Given the description of an element on the screen output the (x, y) to click on. 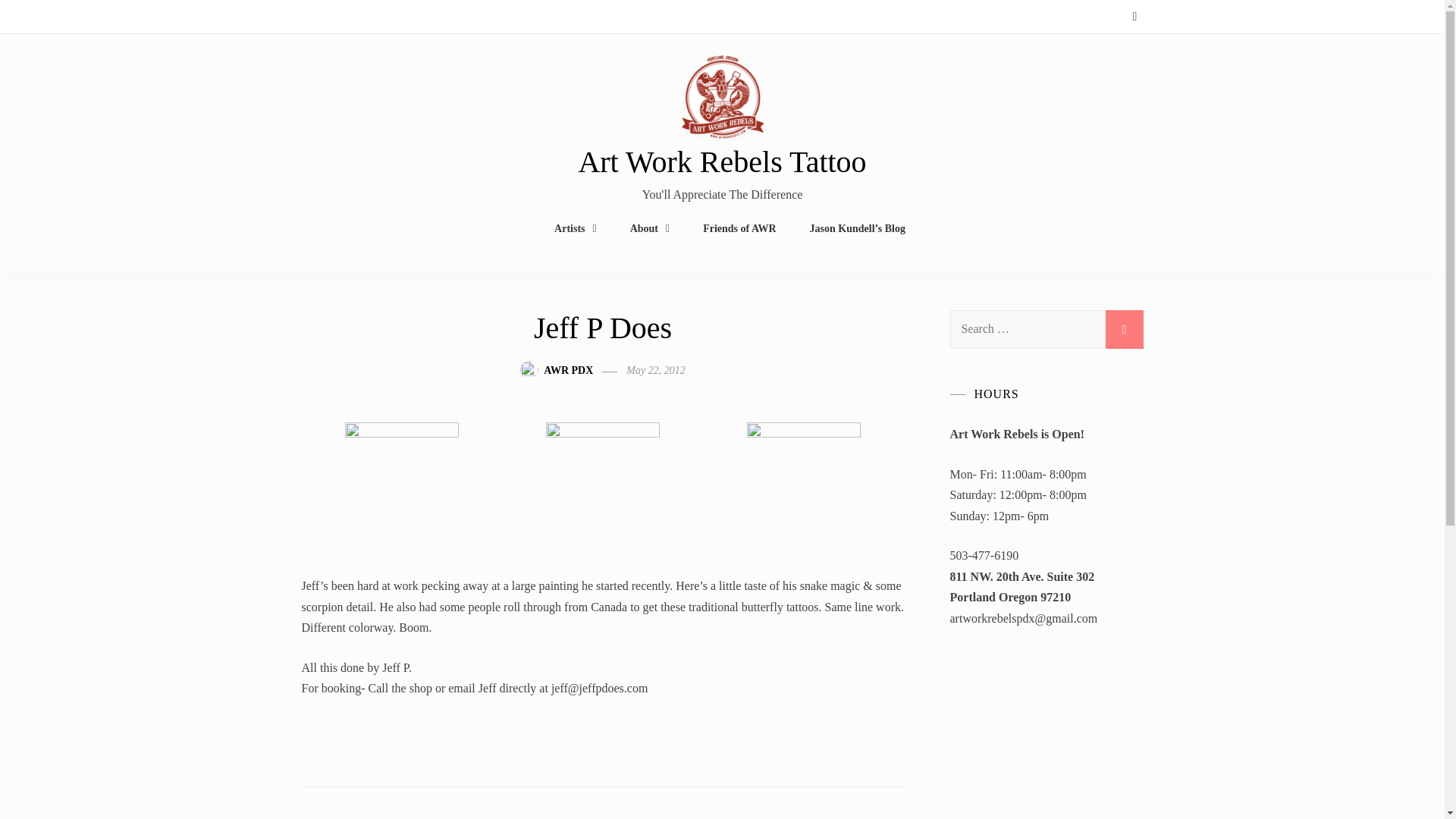
Friends of AWR (739, 229)
May 22, 2012 (655, 369)
Search (1123, 329)
Search (1123, 329)
About (649, 229)
Artists (575, 229)
Art Work Rebels Tattoo (722, 161)
AWR PDX (567, 369)
Search (1123, 329)
